Given the description of an element on the screen output the (x, y) to click on. 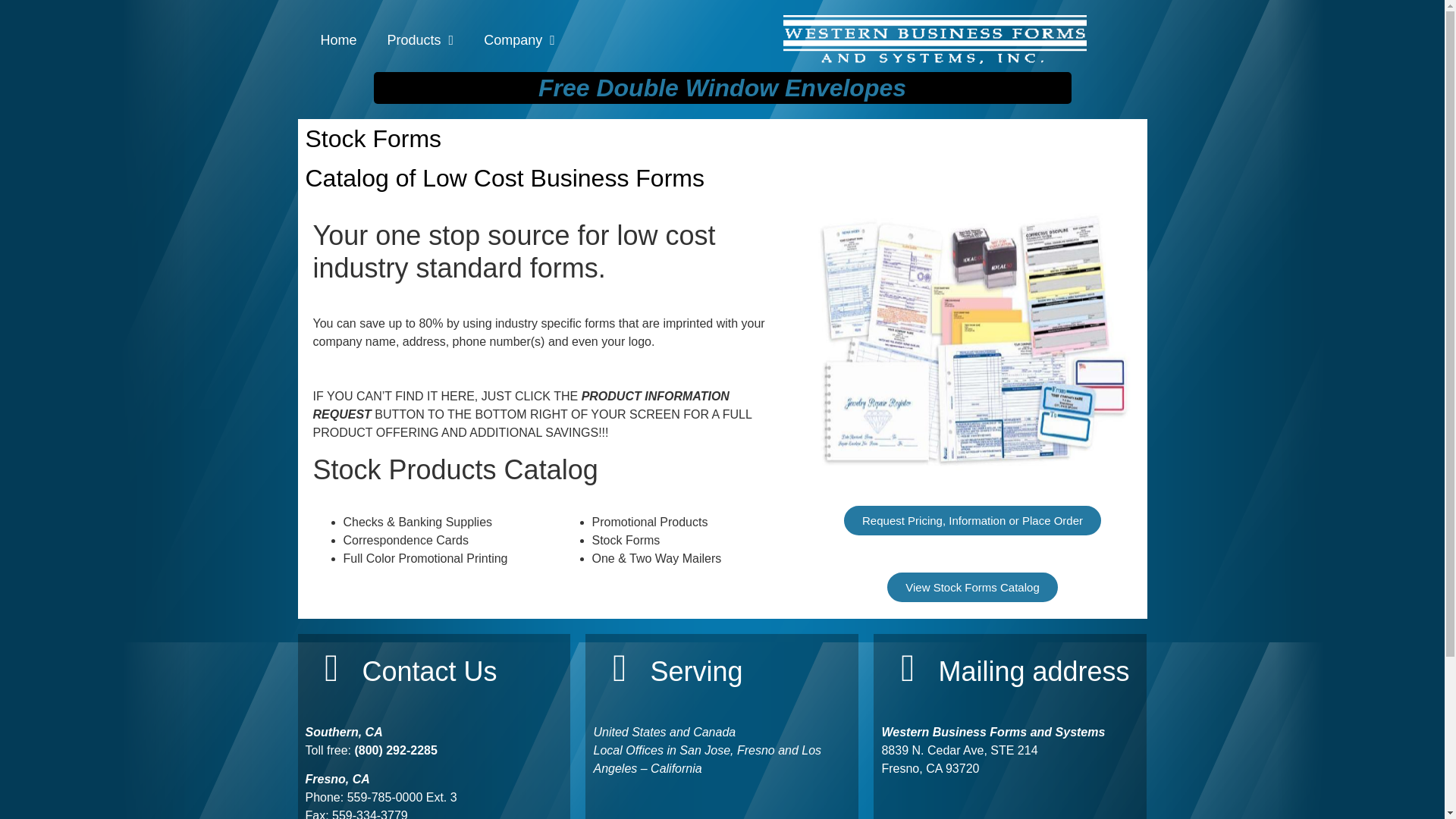
Company (519, 39)
Products (420, 39)
Home (337, 39)
